Given the description of an element on the screen output the (x, y) to click on. 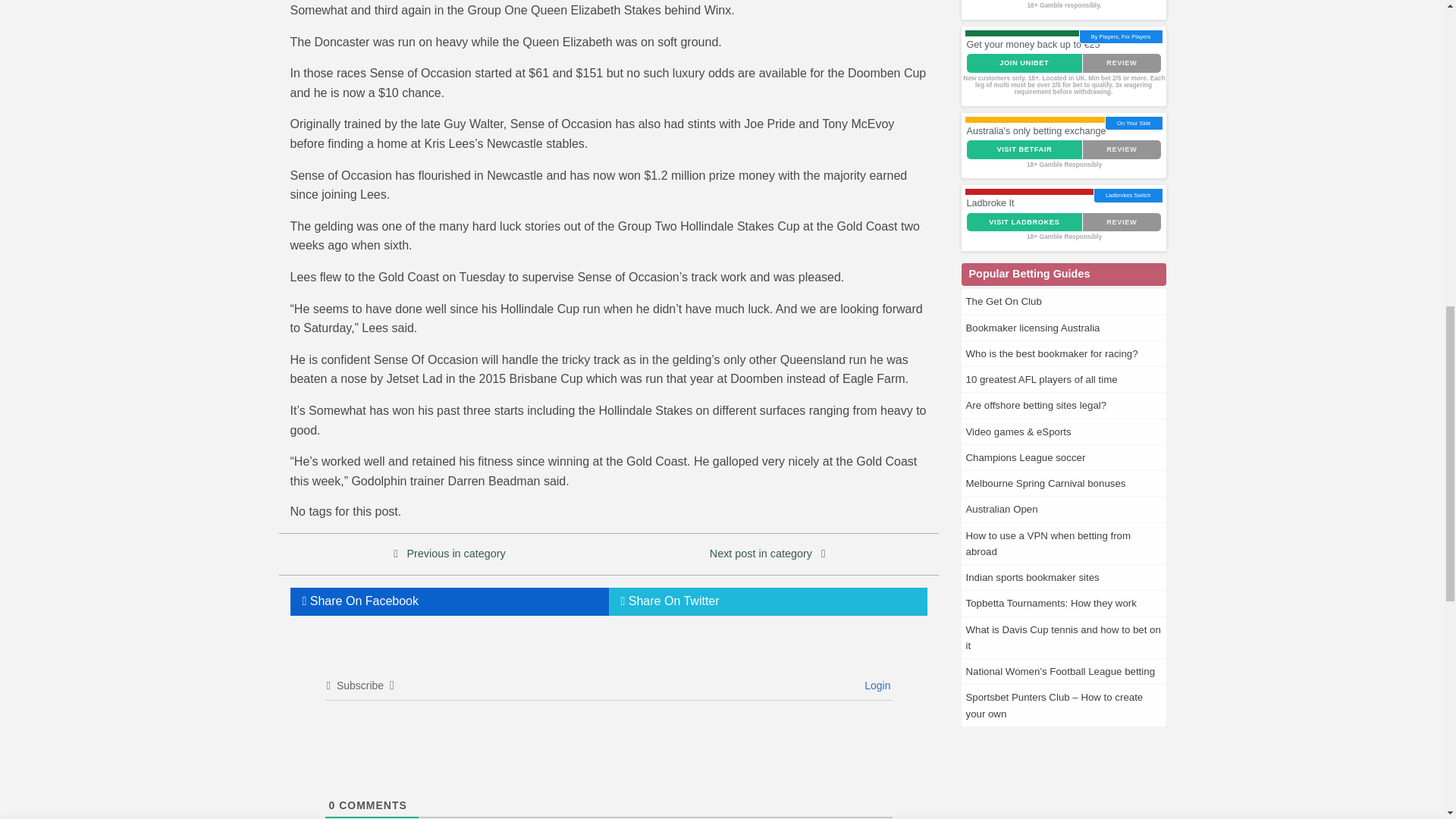
Share On Facebook (448, 601)
Login (874, 685)
Next post in category (761, 553)
Previous in category (455, 553)
Share On Twitter (767, 601)
